Given the description of an element on the screen output the (x, y) to click on. 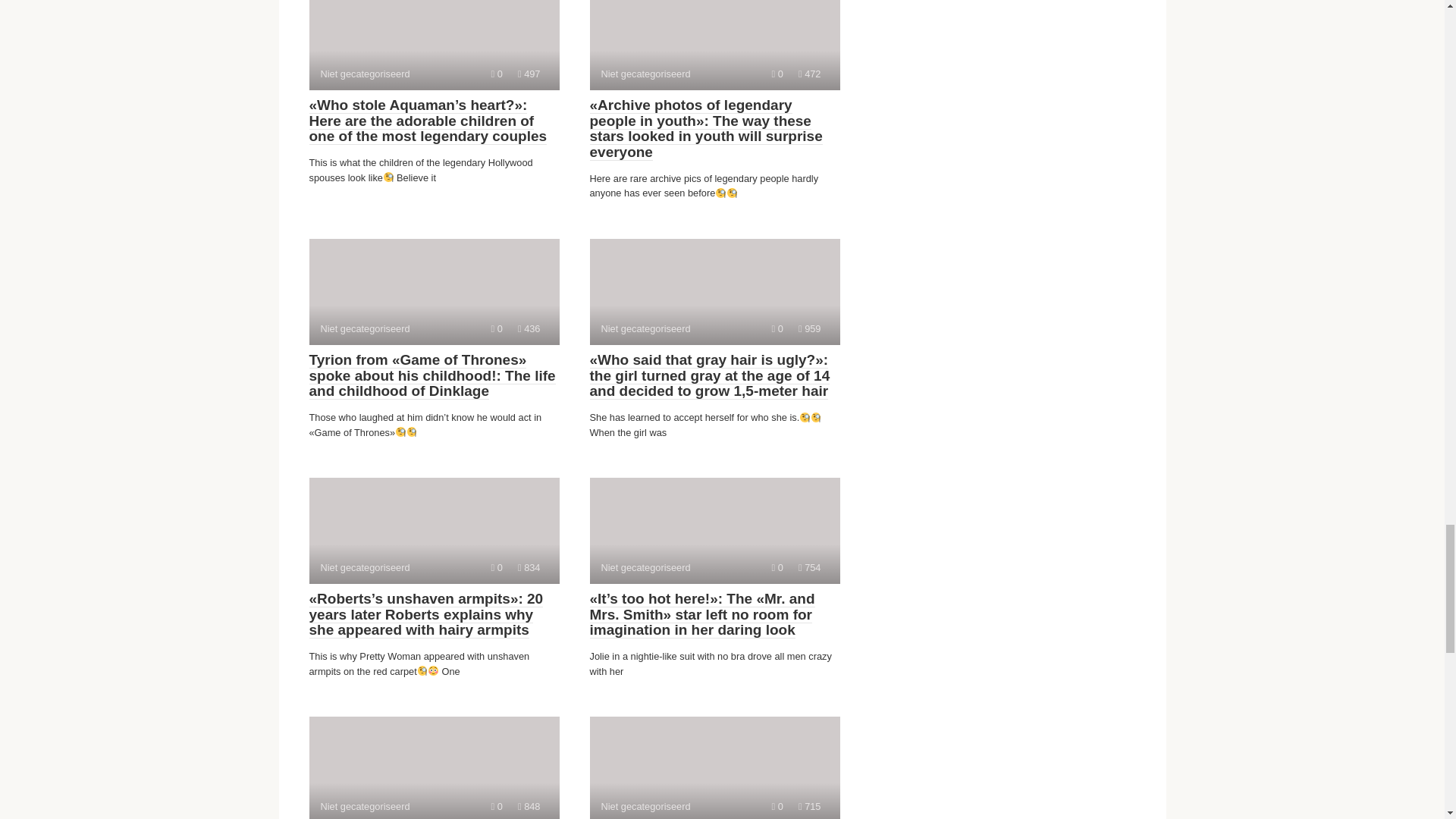
Views (529, 73)
Views (809, 73)
Comments (433, 45)
Comments (714, 45)
